Given the description of an element on the screen output the (x, y) to click on. 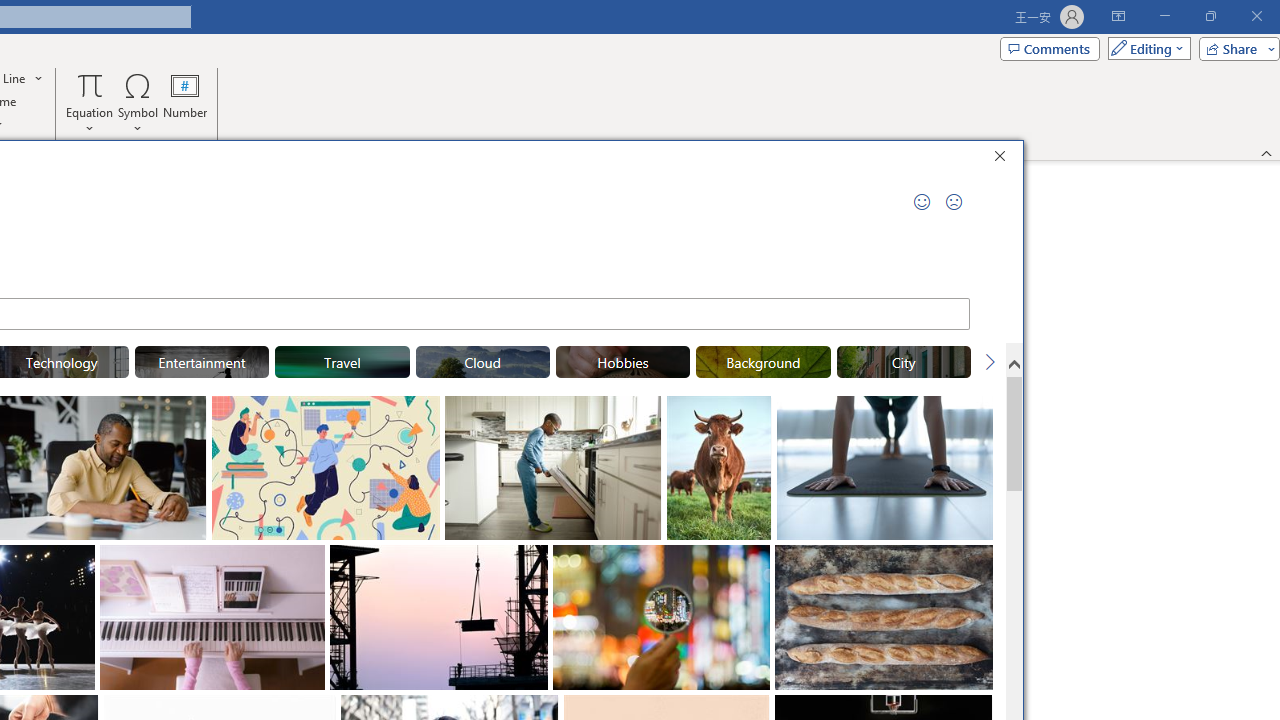
Next Search Suggestion (990, 362)
Editing (1144, 47)
Symbol (138, 102)
Equation (90, 84)
Equation (90, 102)
"Travel" Stock Images. (342, 362)
"Entertainment" Stock Images. (201, 362)
Collapse the Ribbon (1267, 152)
Thumbnail (977, 560)
Comments (1049, 48)
Number... (185, 102)
